Given the description of an element on the screen output the (x, y) to click on. 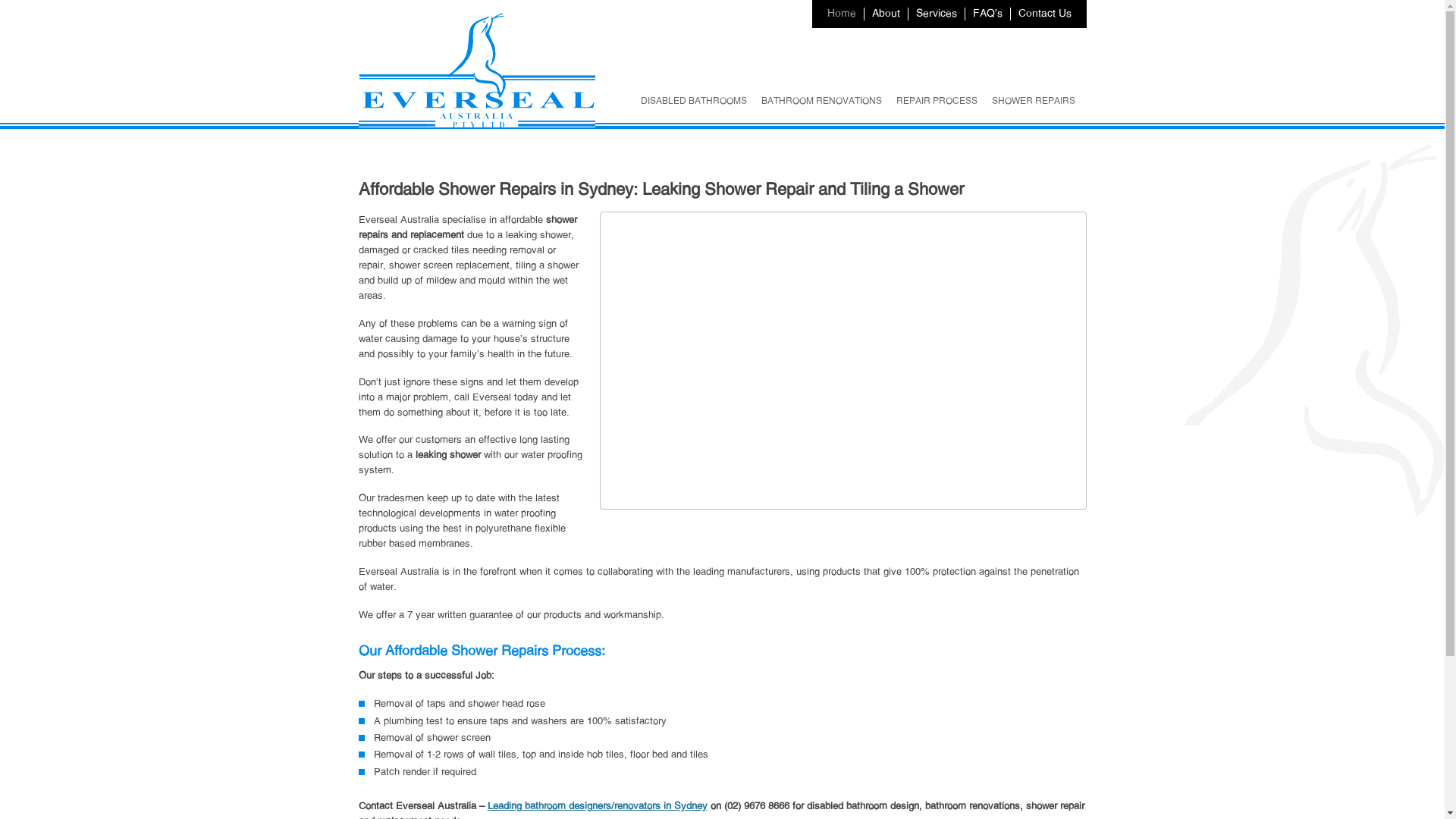
Services Element type: text (936, 12)
Contact Us Element type: text (1043, 12)
Home Element type: text (840, 12)
Everseal Element type: hover (475, 123)
REPAIR PROCESS Element type: text (936, 100)
Bathroom Renovations, Shower Repair and Replacement Sydney Element type: hover (475, 69)
BATHROOM RENOVATIONS Element type: text (821, 100)
SHOWER REPAIRS Element type: text (1033, 100)
About Element type: text (886, 12)
Leading bathroom designers/renovators in Sydney Element type: text (596, 805)
DISABLED BATHROOMS Element type: text (693, 100)
